Given the description of an element on the screen output the (x, y) to click on. 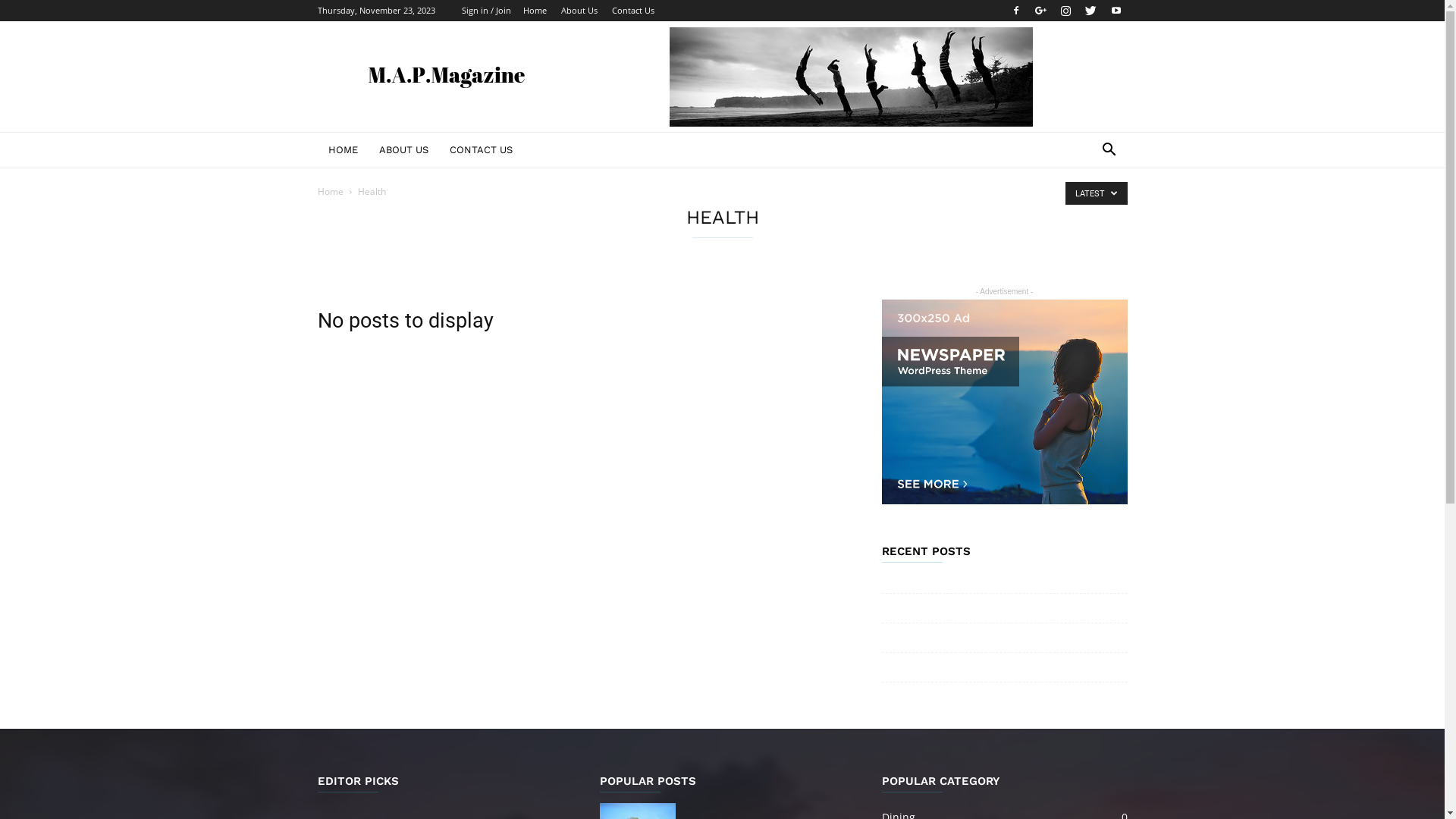
Google+ Element type: hover (1040, 10)
Home Element type: text (534, 9)
HOME Element type: text (341, 149)
CONTACT US Element type: text (480, 149)
About Us Element type: text (579, 9)
Contact Us Element type: text (632, 9)
Search Element type: text (1085, 210)
Instagram Element type: hover (1065, 10)
Twitter Element type: hover (1090, 10)
Youtube Element type: hover (1115, 10)
ABOUT US Element type: text (403, 149)
Sign in / Join Element type: text (485, 9)
Facebook Element type: hover (1015, 10)
Home Element type: text (329, 191)
